Given the description of an element on the screen output the (x, y) to click on. 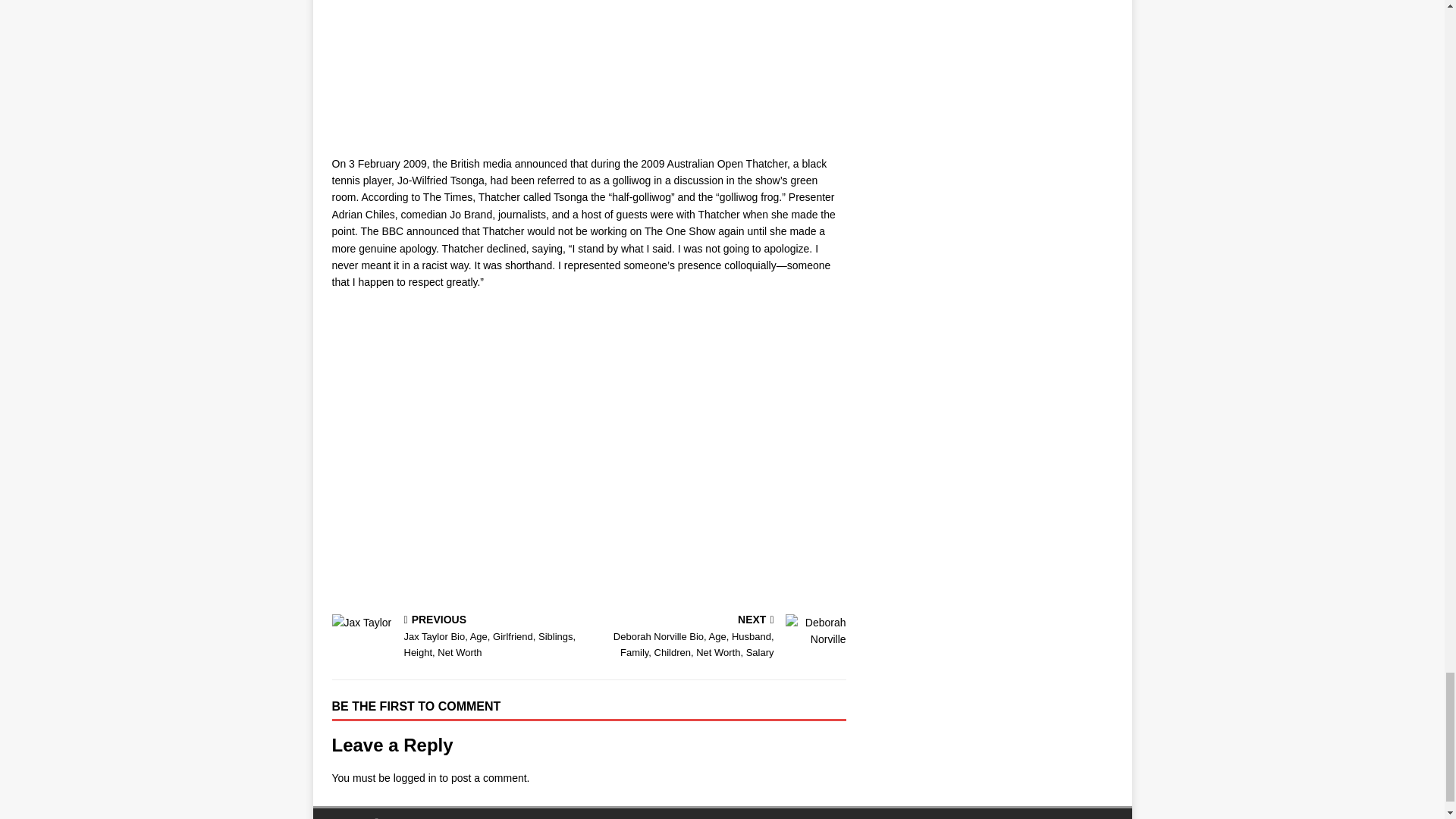
logged in (414, 777)
